Given the description of an element on the screen output the (x, y) to click on. 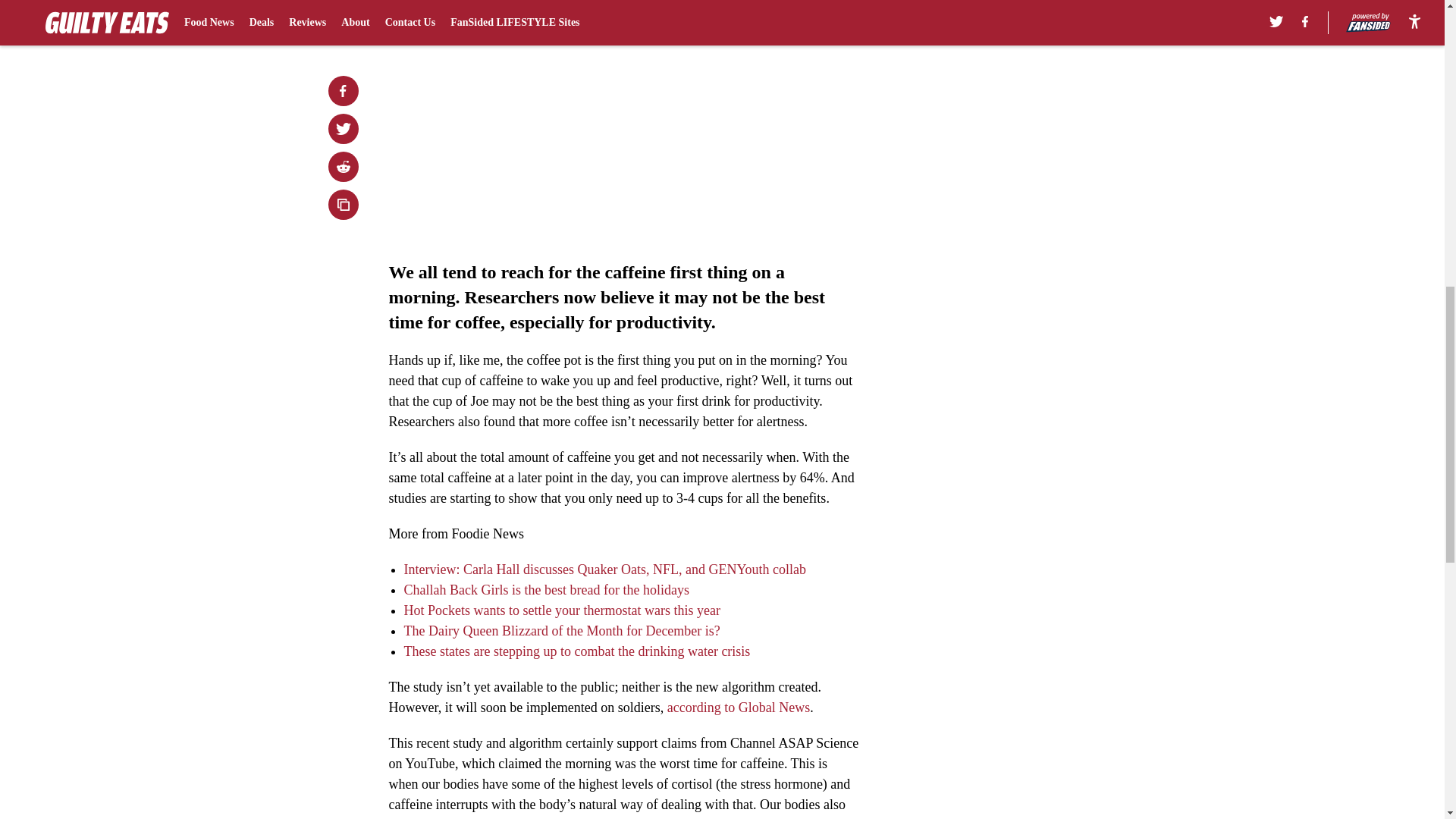
Hot Pockets wants to settle your thermostat wars this year (561, 610)
The Dairy Queen Blizzard of the Month for December is? (561, 630)
according to Global News (737, 707)
Challah Back Girls is the best bread for the holidays (545, 589)
